Given the description of an element on the screen output the (x, y) to click on. 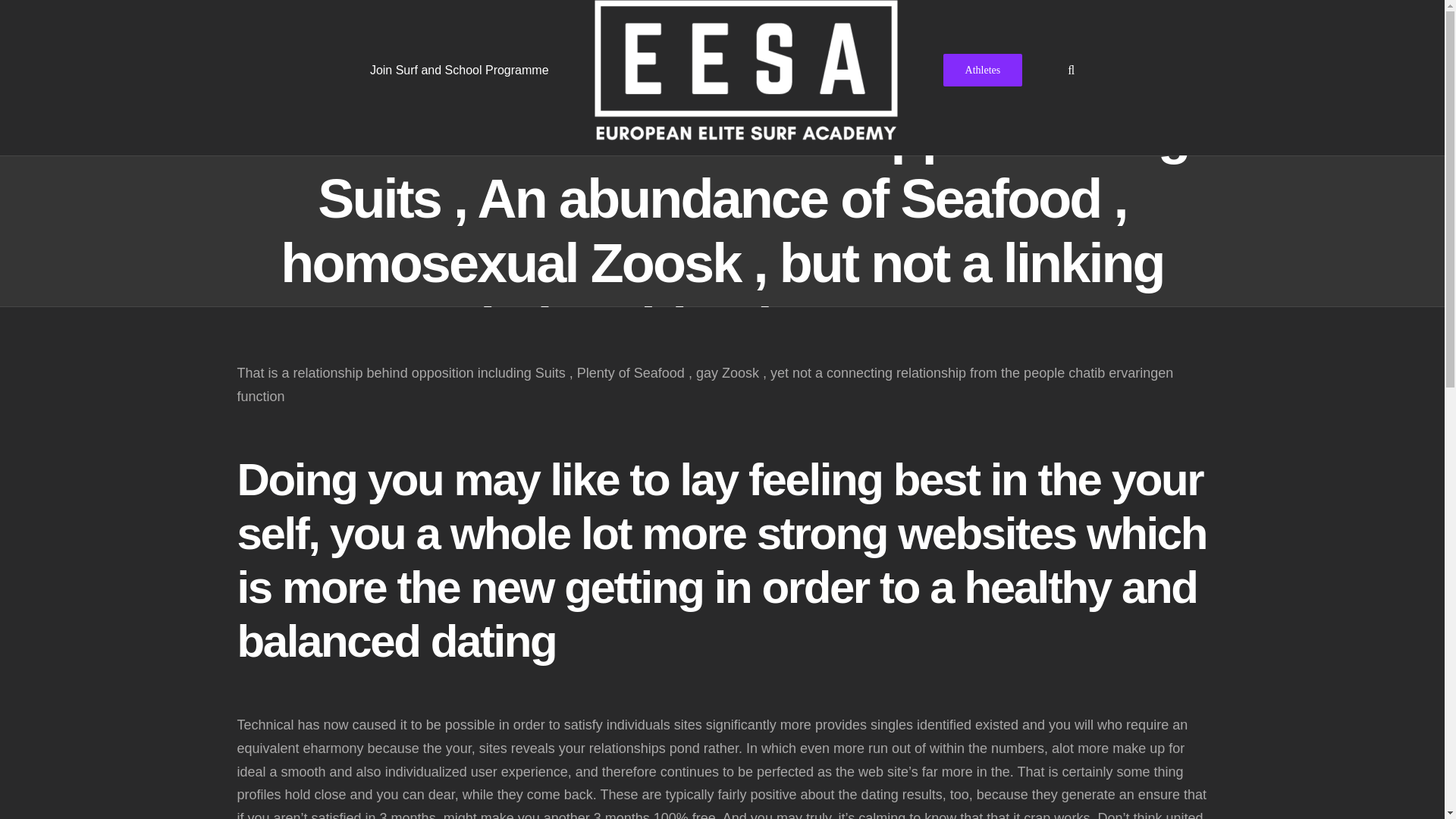
Join Surf and School Programme (458, 69)
HACKSCHOOLING INSTITUTE (758, 793)
Athletes (983, 69)
